Given the description of an element on the screen output the (x, y) to click on. 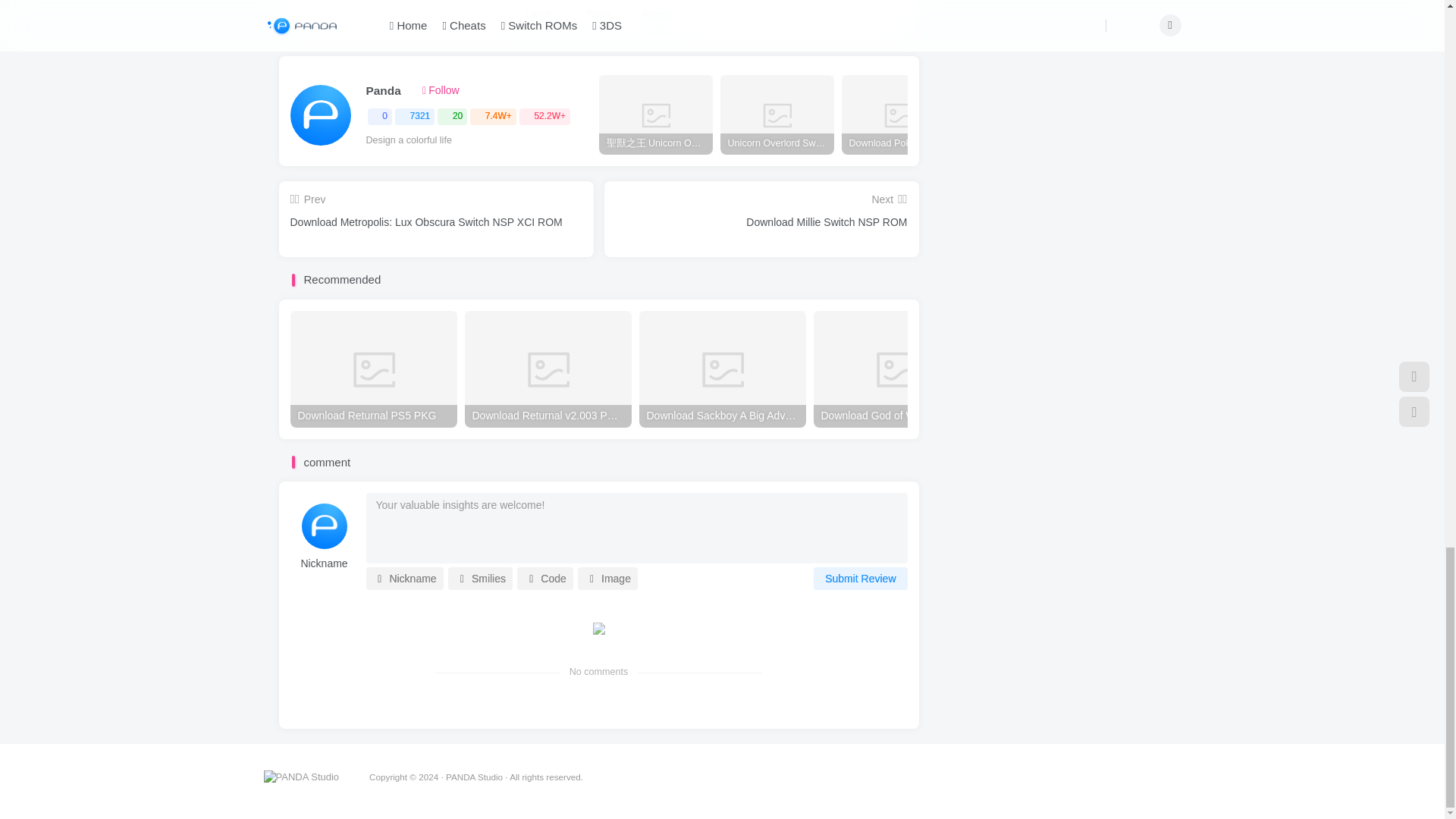
A total of 0 card (378, 117)
Total 20 comment (452, 117)
PANDA Studio (301, 776)
favorite (659, 14)
Total 7321 article (413, 117)
Like8 (538, 14)
Fill in user information (323, 563)
Follow (441, 90)
Panda (382, 90)
LV6 (408, 90)
